Given the description of an element on the screen output the (x, y) to click on. 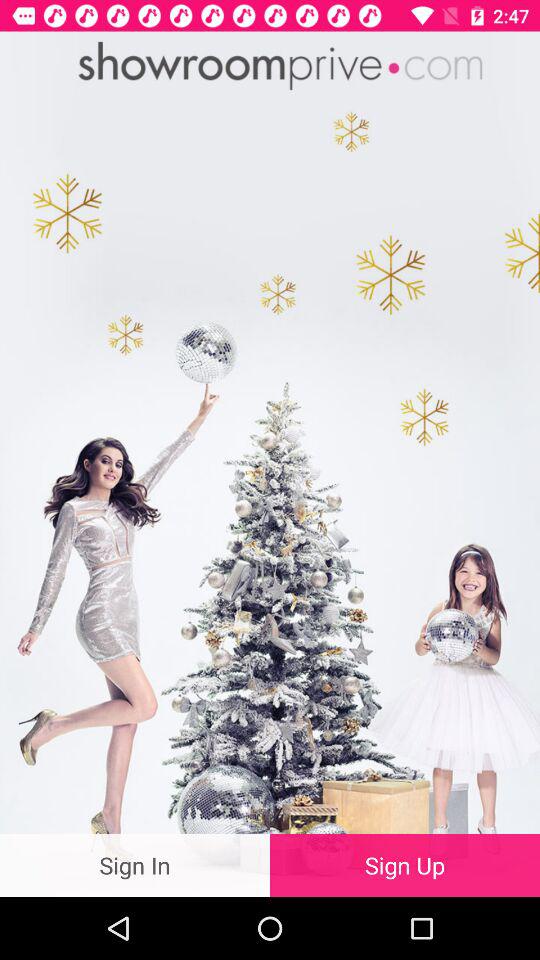
select the sign up item (405, 864)
